Given the description of an element on the screen output the (x, y) to click on. 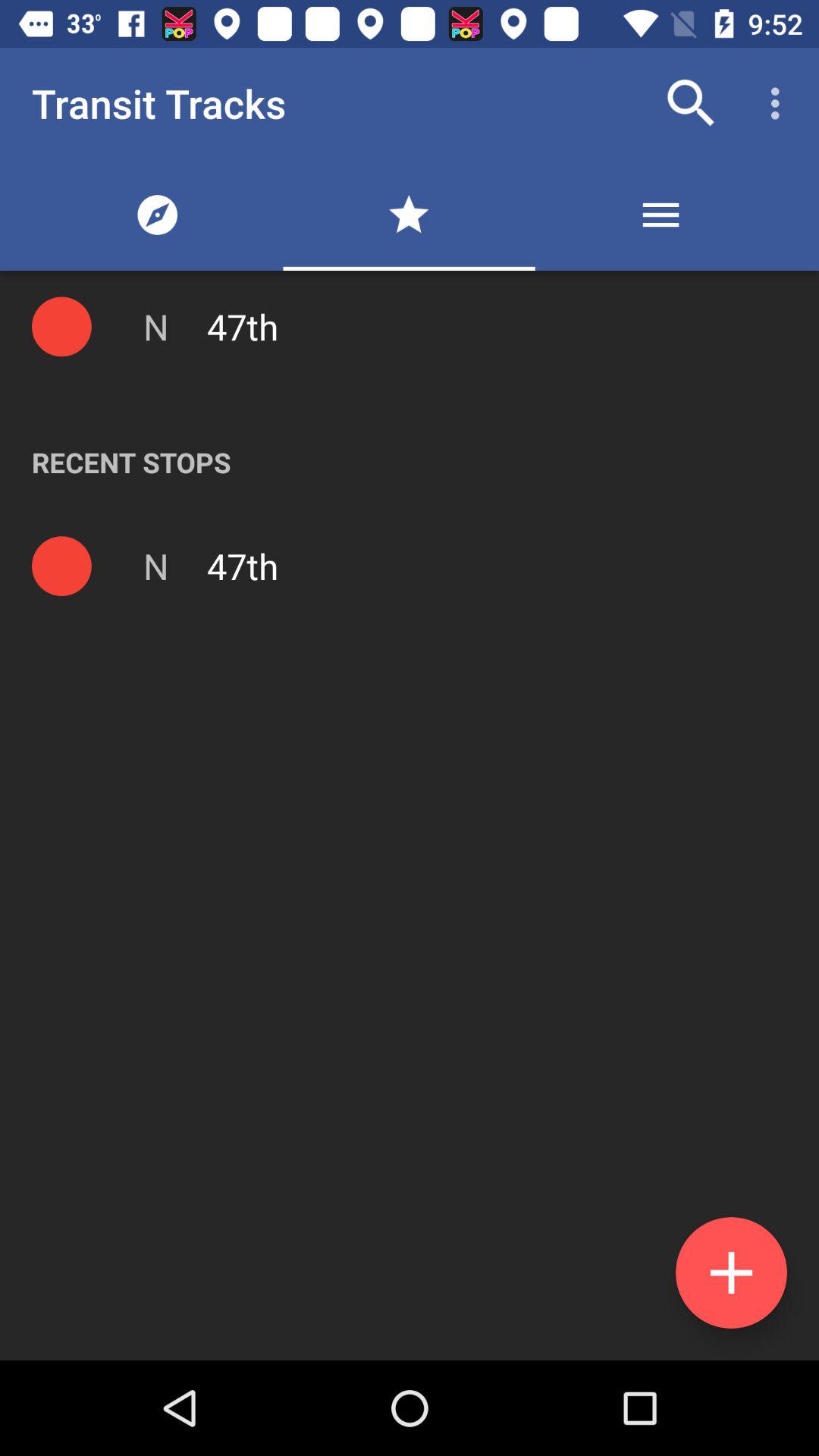
add new (731, 1272)
